Given the description of an element on the screen output the (x, y) to click on. 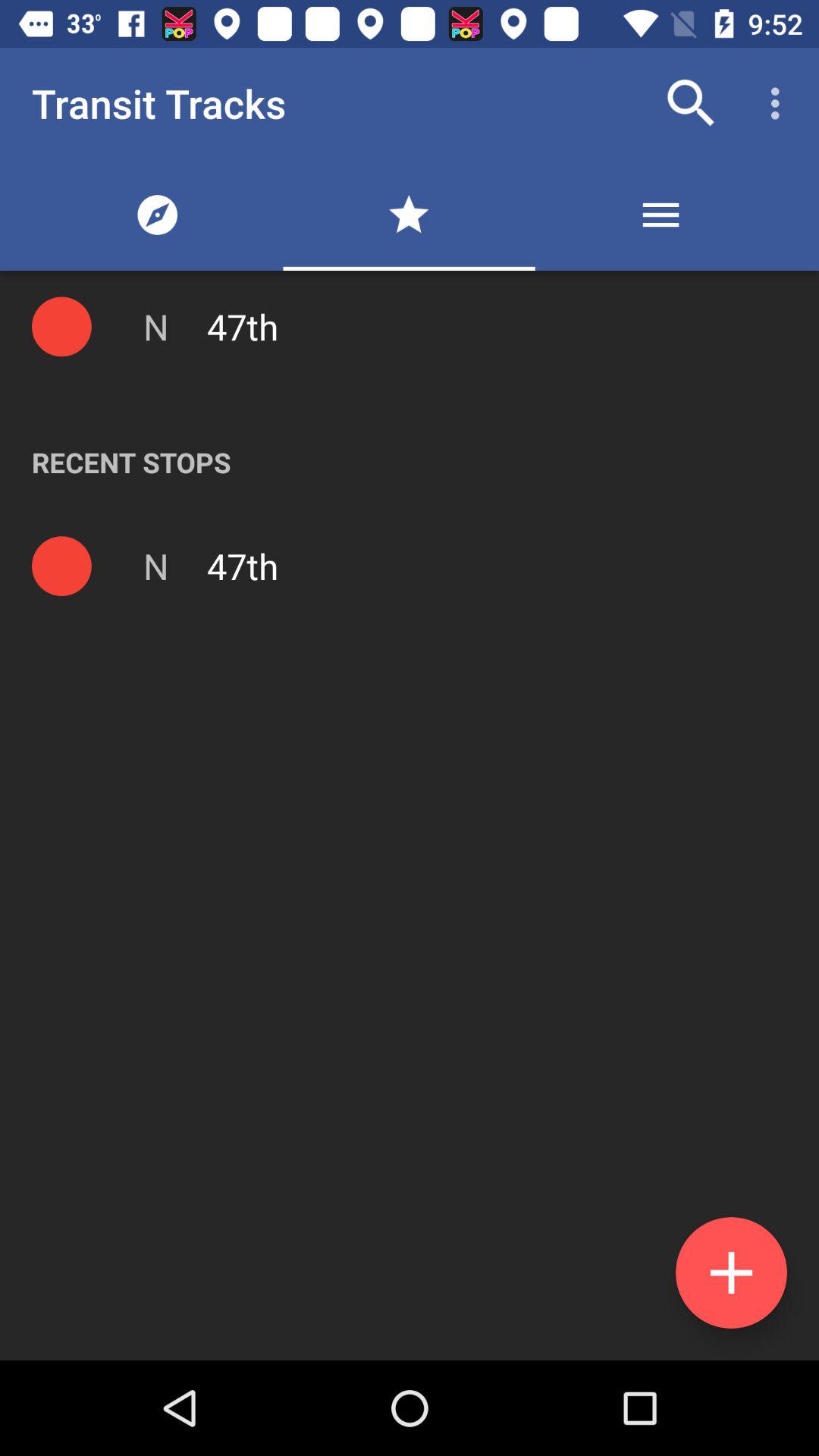
add new (731, 1272)
